Given the description of an element on the screen output the (x, y) to click on. 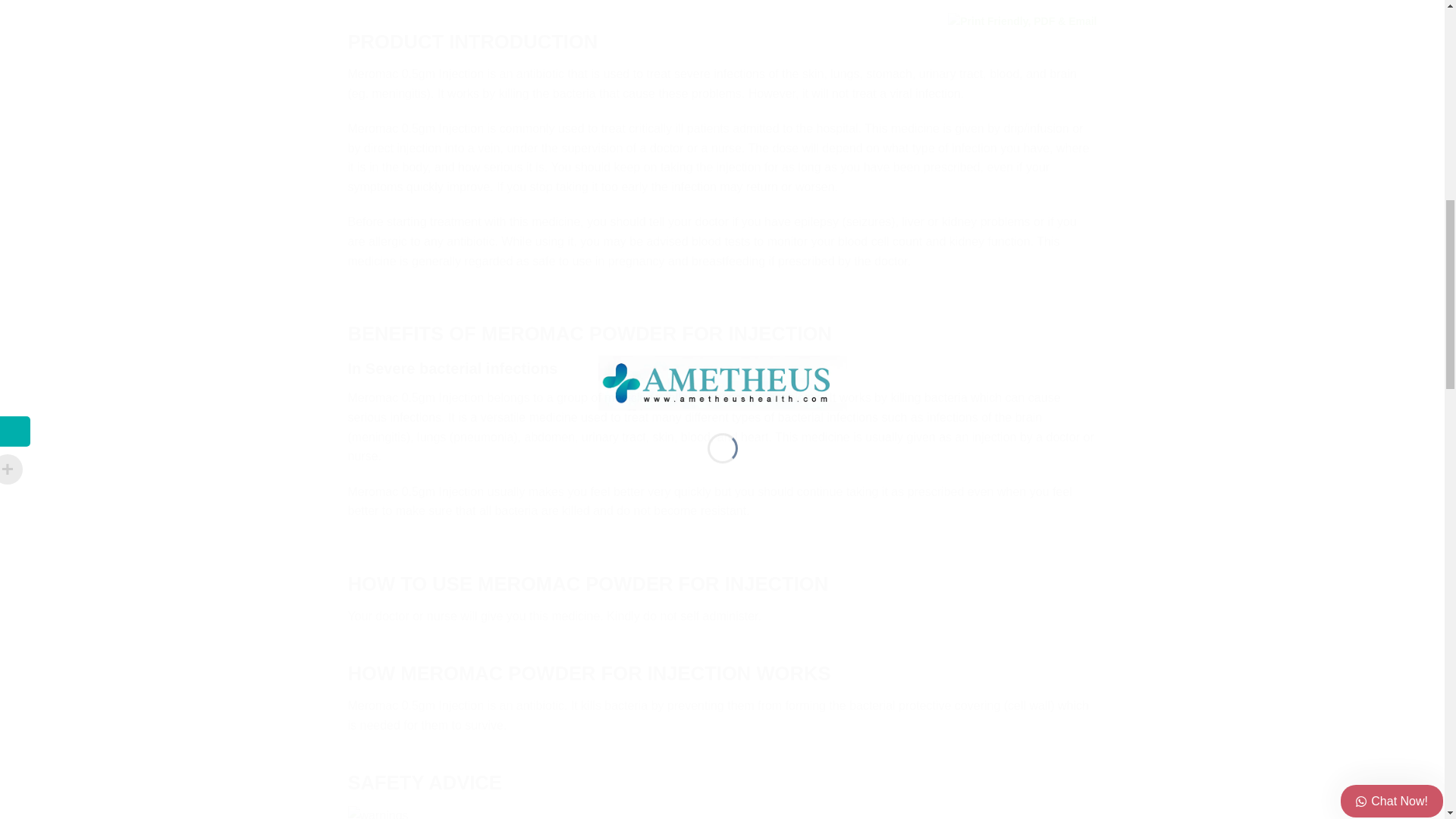
warnings (377, 812)
